Given the description of an element on the screen output the (x, y) to click on. 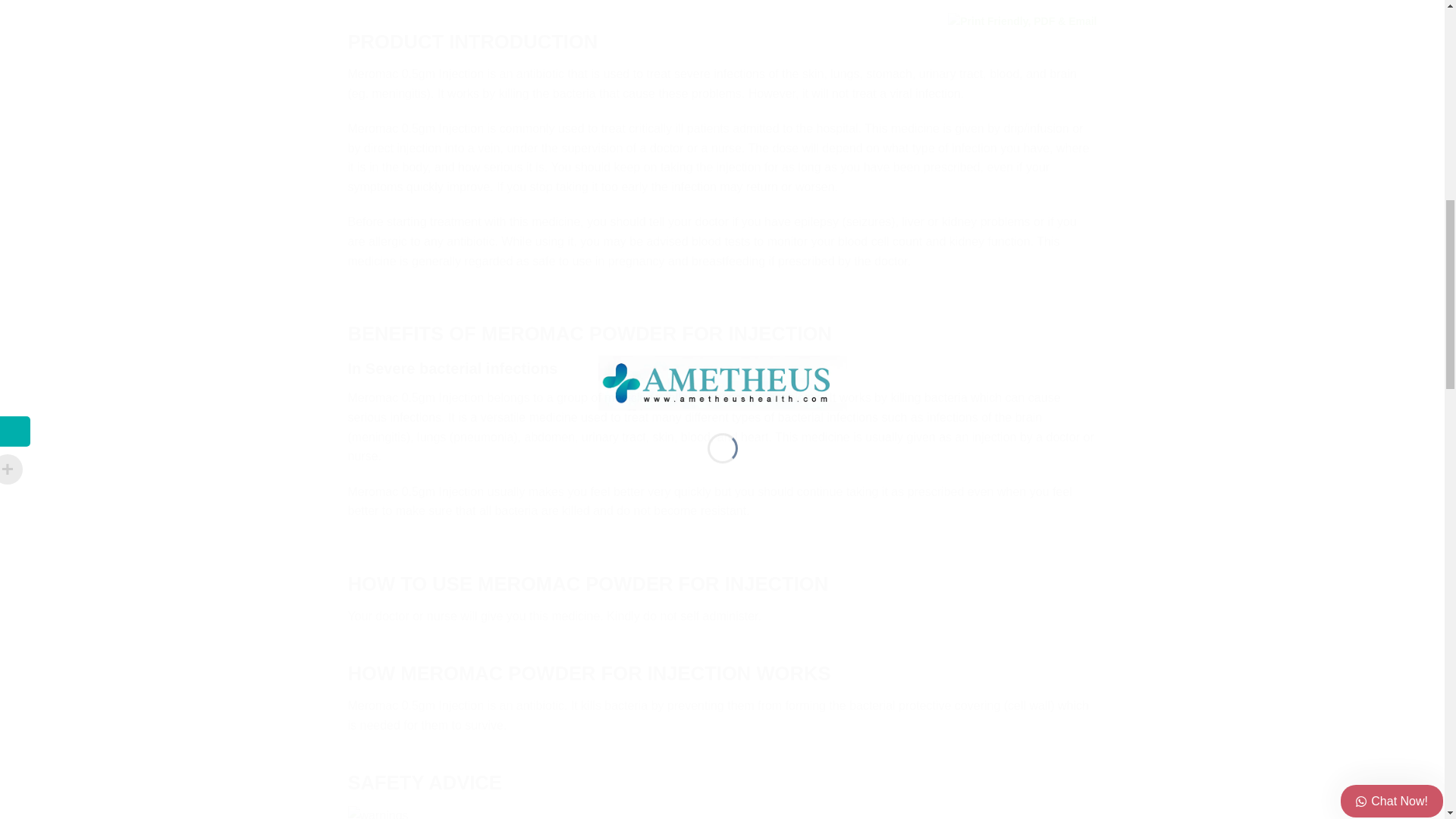
warnings (377, 812)
